Given the description of an element on the screen output the (x, y) to click on. 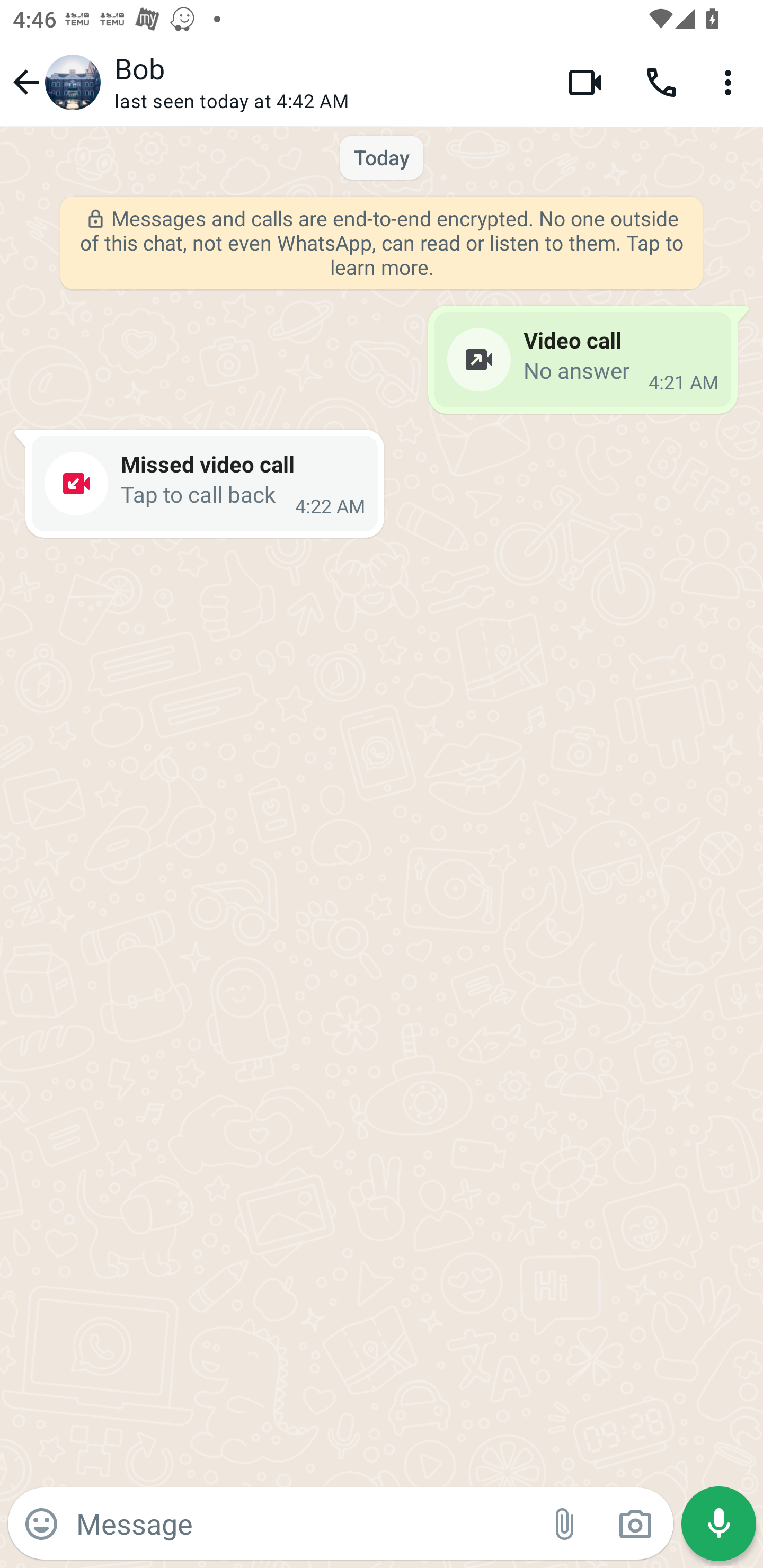
Bob last seen today at 4:42 AM (327, 82)
Navigate up (54, 82)
Video call (585, 81)
Voice call (661, 81)
More options (731, 81)
Emoji (41, 1523)
Attach (565, 1523)
Camera (634, 1523)
Message (303, 1523)
